Given the description of an element on the screen output the (x, y) to click on. 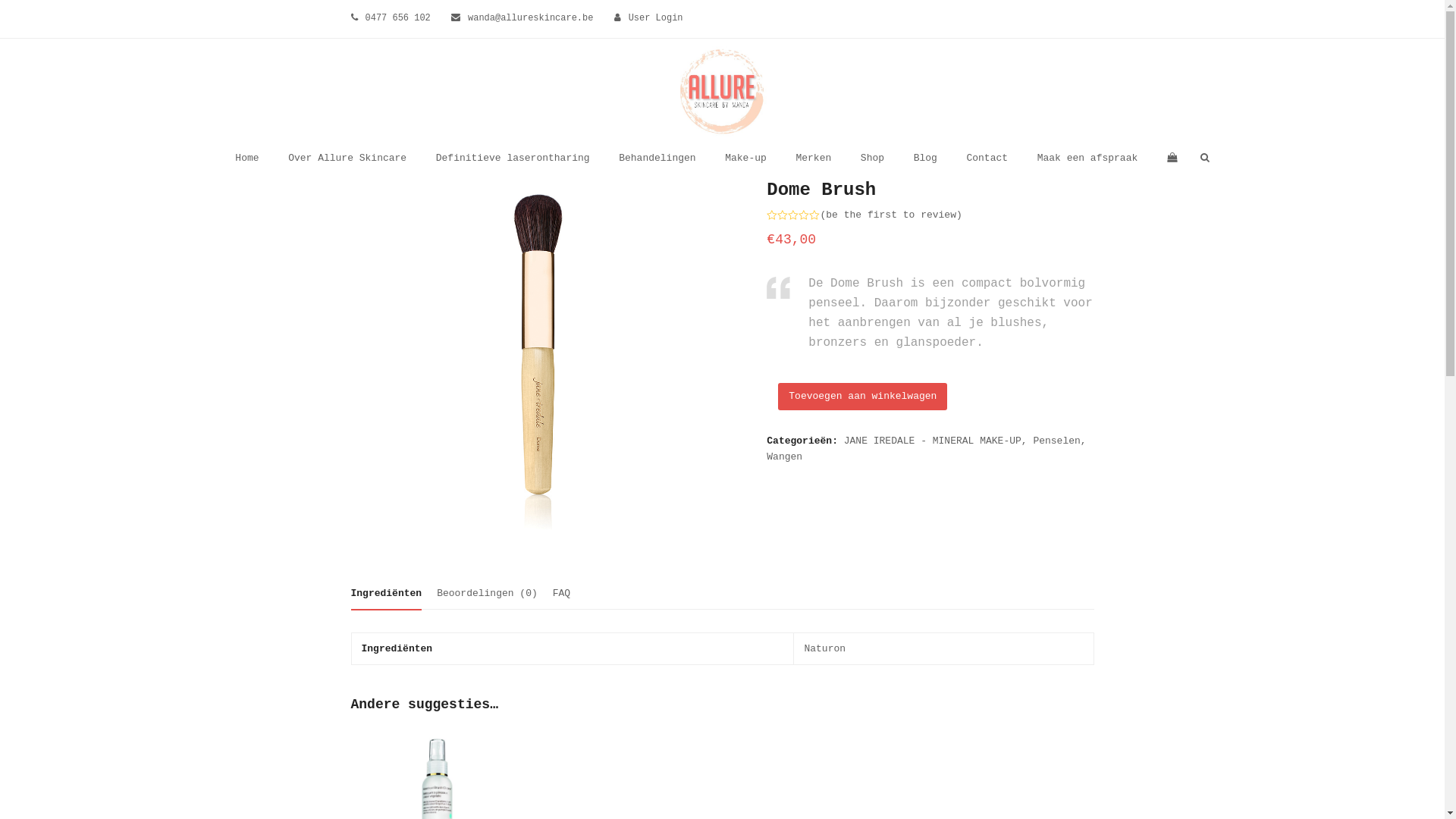
wanda@allureskincare.be Element type: text (530, 17)
Make-up Element type: text (745, 158)
JANE IREDALE - MINERAL MAKE-UP Element type: text (932, 440)
User Login Element type: text (655, 17)
Beoordelingen (0) Element type: text (486, 593)
Over Allure Skincare Element type: text (347, 158)
Shop Element type: text (871, 158)
be the first to review Element type: text (890, 214)
Toevoegen aan winkelwagen Element type: text (862, 396)
Home Element type: text (246, 158)
0477 656 102 Element type: text (397, 17)
Wangen Element type: text (784, 456)
SHOP_18016-1-brushes-dome Element type: hover (543, 370)
Penselen Element type: text (1055, 440)
FAQ Element type: text (561, 593)
Merken Element type: text (813, 158)
Definitieve laserontharing Element type: text (512, 158)
Contact Element type: text (986, 158)
Maak een afspraak Element type: text (1086, 158)
Blog Element type: text (924, 158)
Behandelingen Element type: text (657, 158)
